Given the description of an element on the screen output the (x, y) to click on. 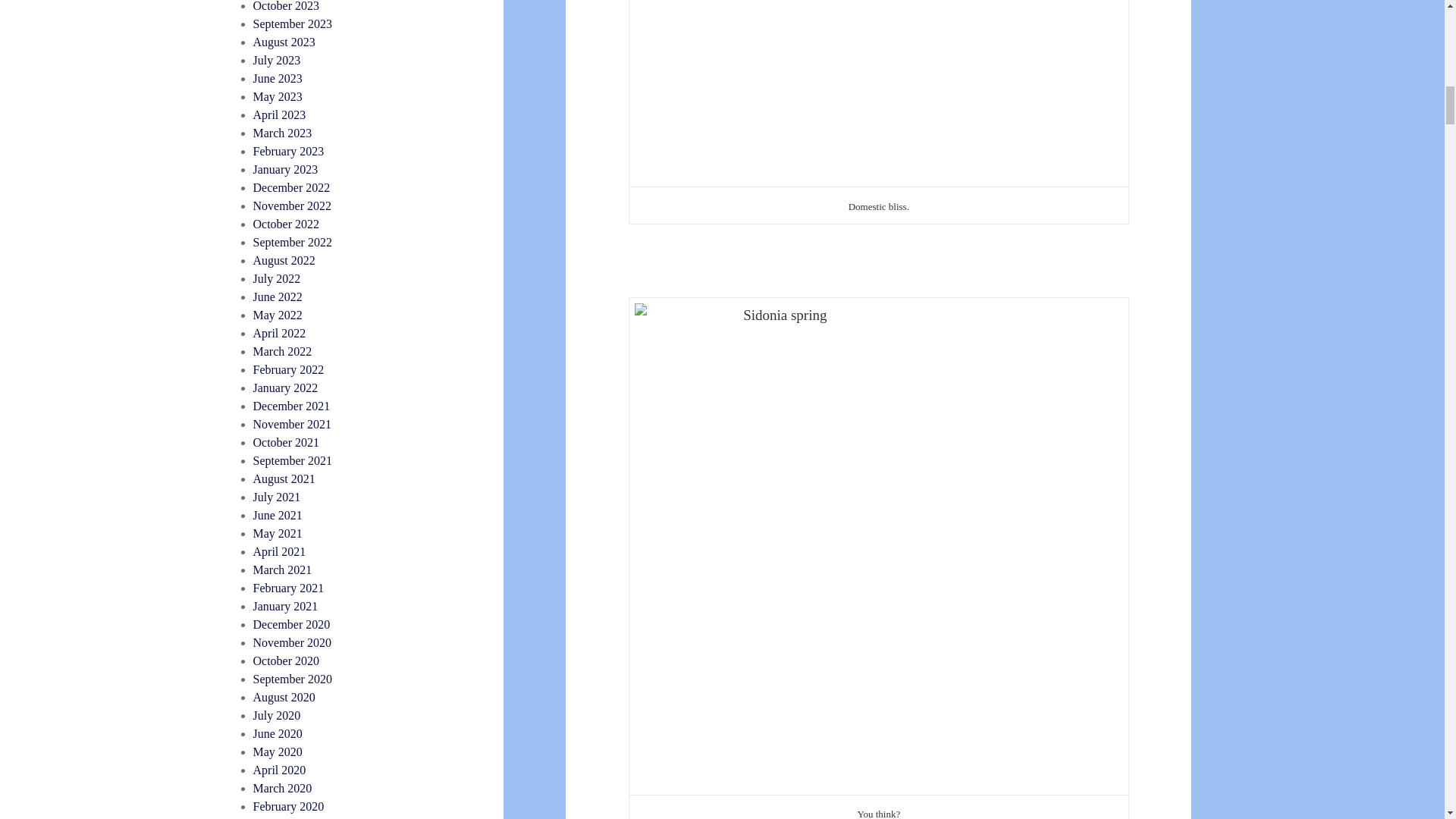
July 2023 (277, 60)
August 2022 (284, 259)
August 2023 (284, 42)
October 2022 (286, 223)
October 2023 (286, 6)
May 2023 (277, 96)
January 2023 (285, 169)
December 2022 (291, 187)
April 2023 (279, 114)
March 2023 (283, 132)
September 2023 (292, 23)
June 2023 (277, 78)
September 2022 (292, 241)
November 2022 (292, 205)
February 2023 (288, 151)
